Given the description of an element on the screen output the (x, y) to click on. 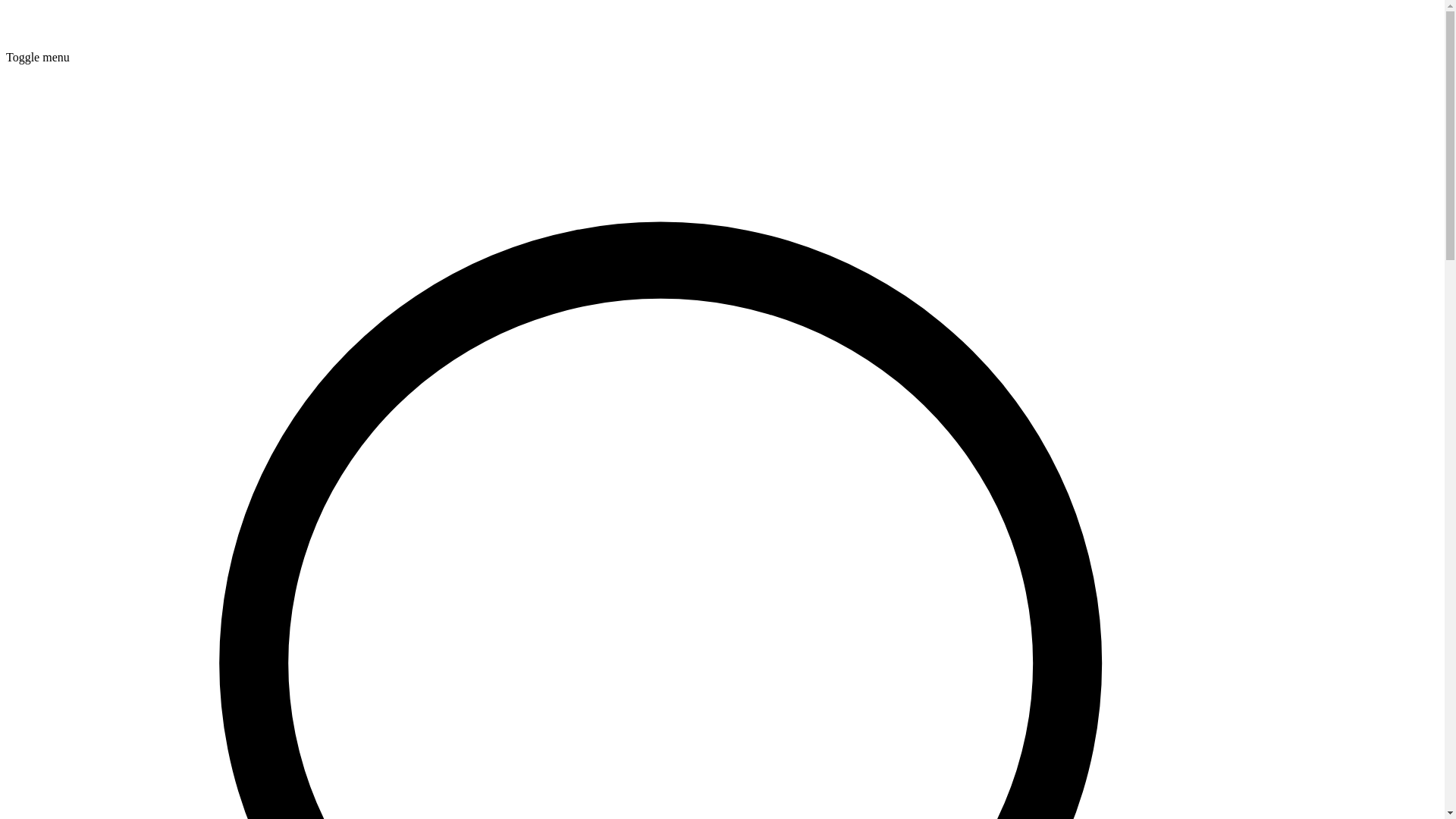
Back to home Element type: hover (38, 43)
